Given the description of an element on the screen output the (x, y) to click on. 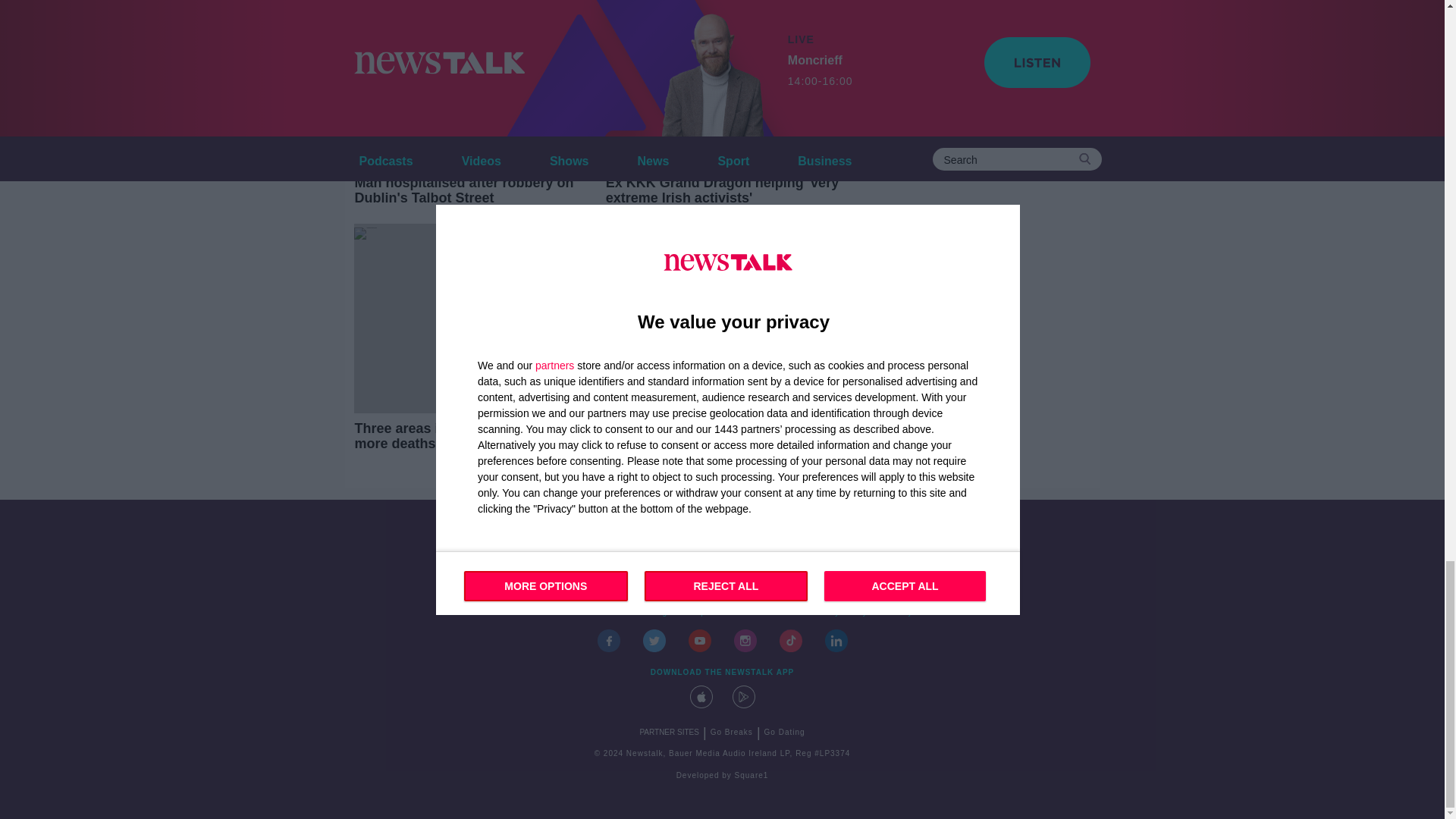
site terms (772, 612)
Privacy (897, 612)
events (592, 612)
competitions (708, 612)
contact (547, 612)
advertising (644, 612)
Privacy Policy (838, 612)
